Given the description of an element on the screen output the (x, y) to click on. 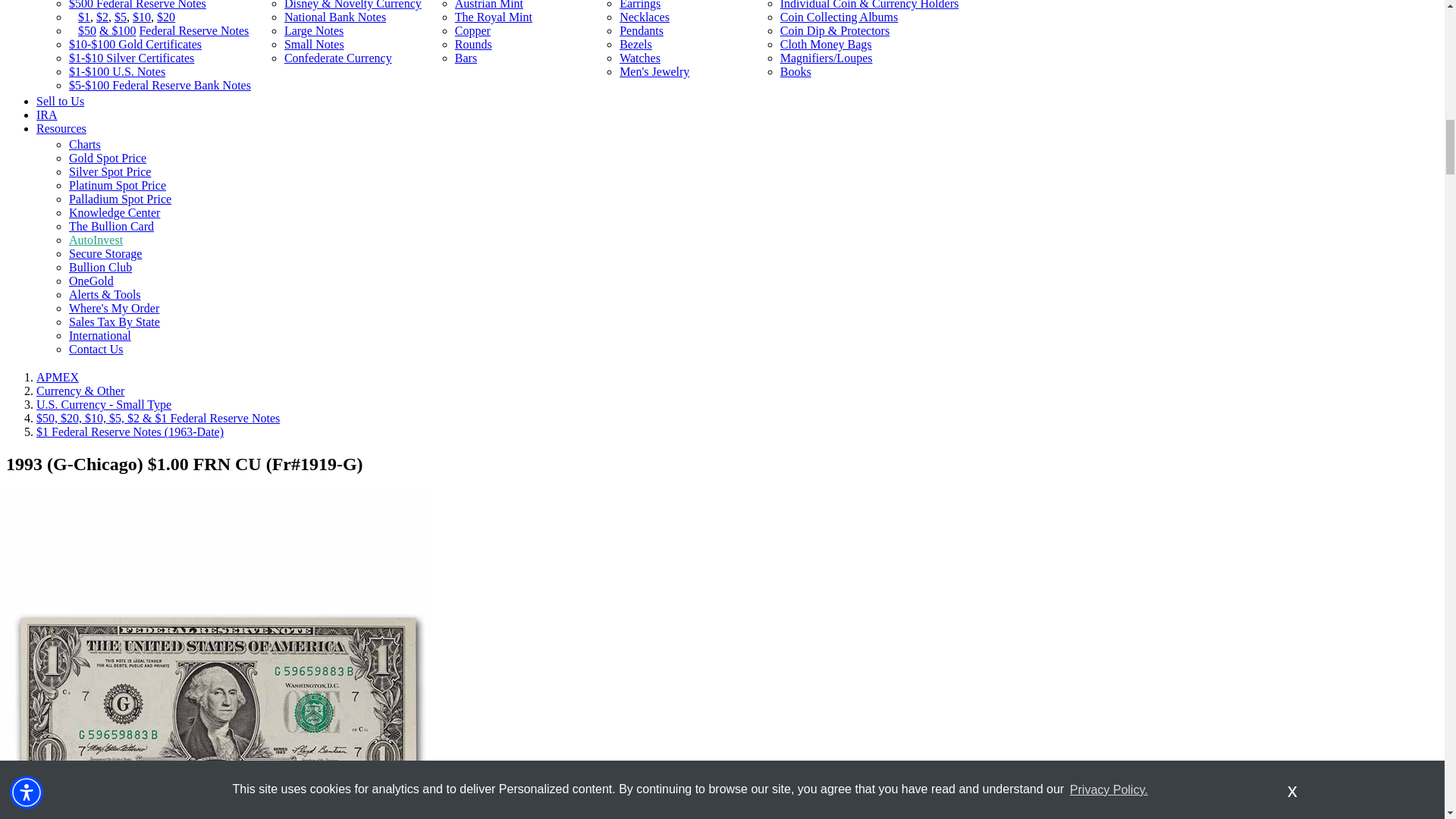
Home (57, 377)
